Given the description of an element on the screen output the (x, y) to click on. 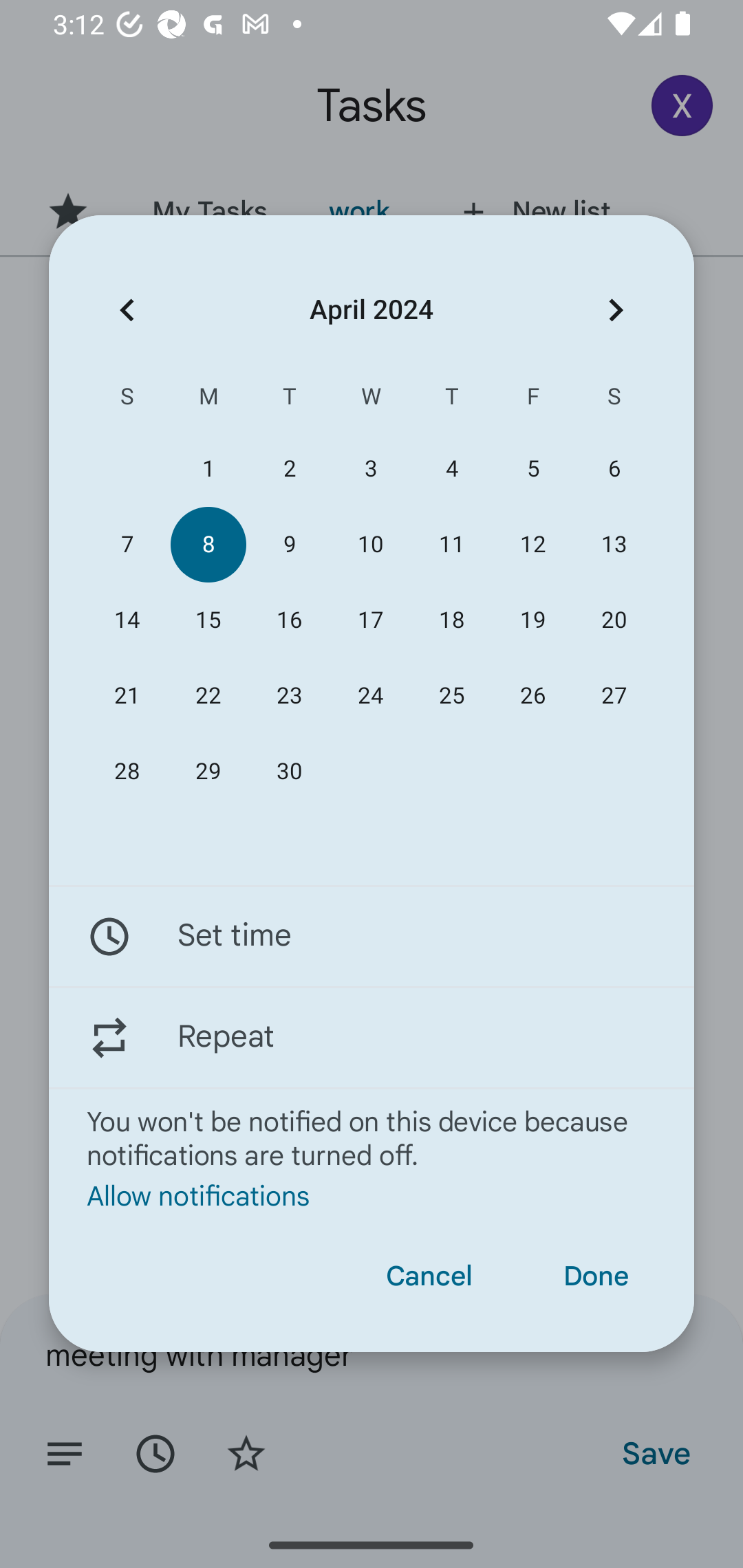
Previous month (126, 309)
Next month (615, 309)
1 01 April 2024 (207, 468)
2 02 April 2024 (288, 468)
3 03 April 2024 (370, 468)
4 04 April 2024 (451, 468)
5 05 April 2024 (532, 468)
6 06 April 2024 (613, 468)
7 07 April 2024 (126, 543)
8 08 April 2024 (207, 543)
9 09 April 2024 (288, 543)
10 10 April 2024 (370, 543)
11 11 April 2024 (451, 543)
12 12 April 2024 (532, 543)
13 13 April 2024 (613, 543)
14 14 April 2024 (126, 619)
15 15 April 2024 (207, 619)
16 16 April 2024 (288, 619)
17 17 April 2024 (370, 619)
18 18 April 2024 (451, 619)
19 19 April 2024 (532, 619)
20 20 April 2024 (613, 619)
21 21 April 2024 (126, 695)
22 22 April 2024 (207, 695)
23 23 April 2024 (288, 695)
24 24 April 2024 (370, 695)
25 25 April 2024 (451, 695)
26 26 April 2024 (532, 695)
27 27 April 2024 (613, 695)
28 28 April 2024 (126, 771)
29 29 April 2024 (207, 771)
30 30 April 2024 (288, 771)
Set time (371, 936)
Repeat (371, 1036)
Allow notifications (371, 1195)
Cancel (429, 1275)
Done (595, 1275)
